Given the description of an element on the screen output the (x, y) to click on. 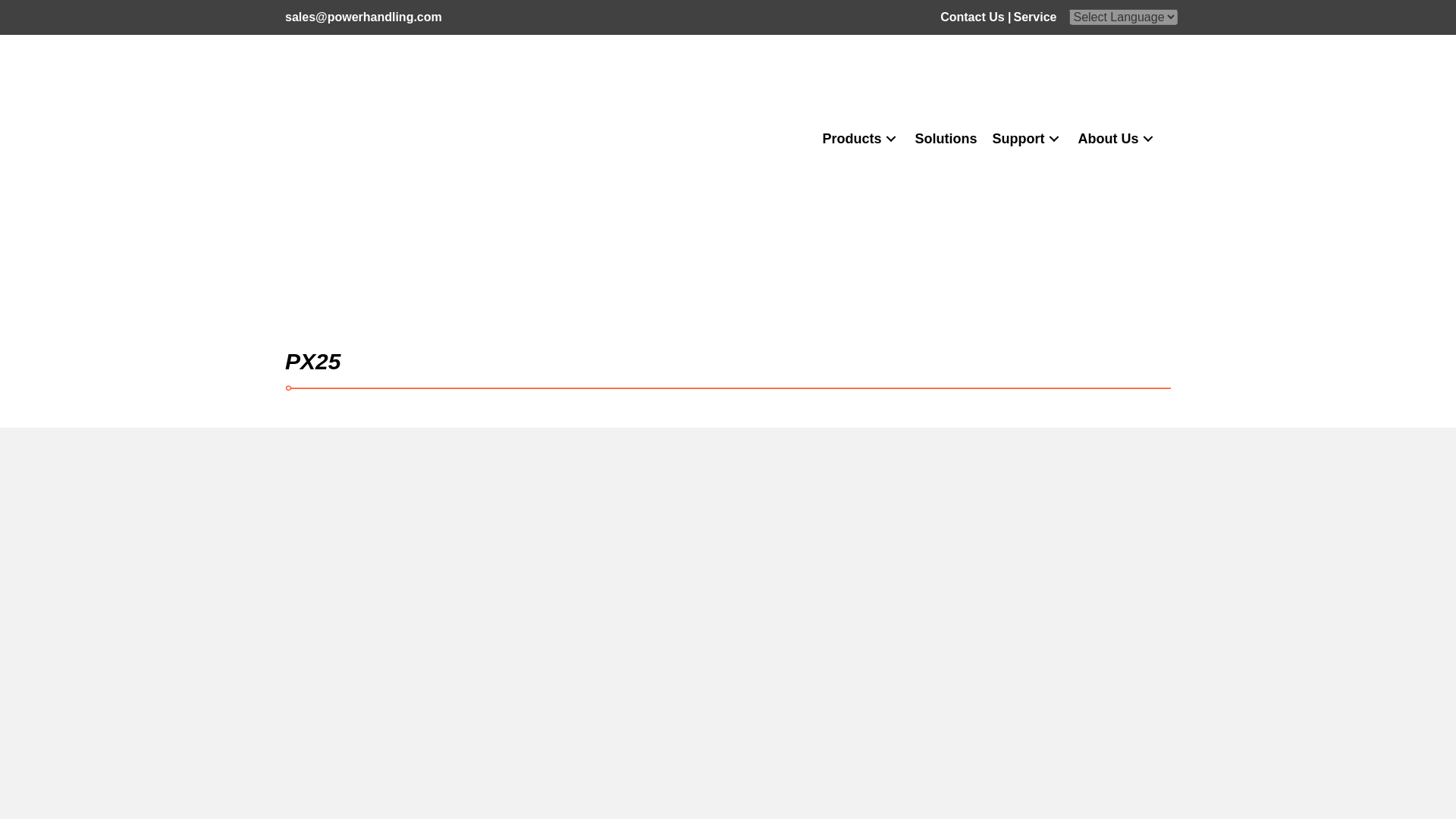
Support (1027, 139)
About Us (1117, 139)
Products (860, 139)
logo5-1 (380, 138)
Contact Us (972, 16)
Solutions (946, 139)
